Given the description of an element on the screen output the (x, y) to click on. 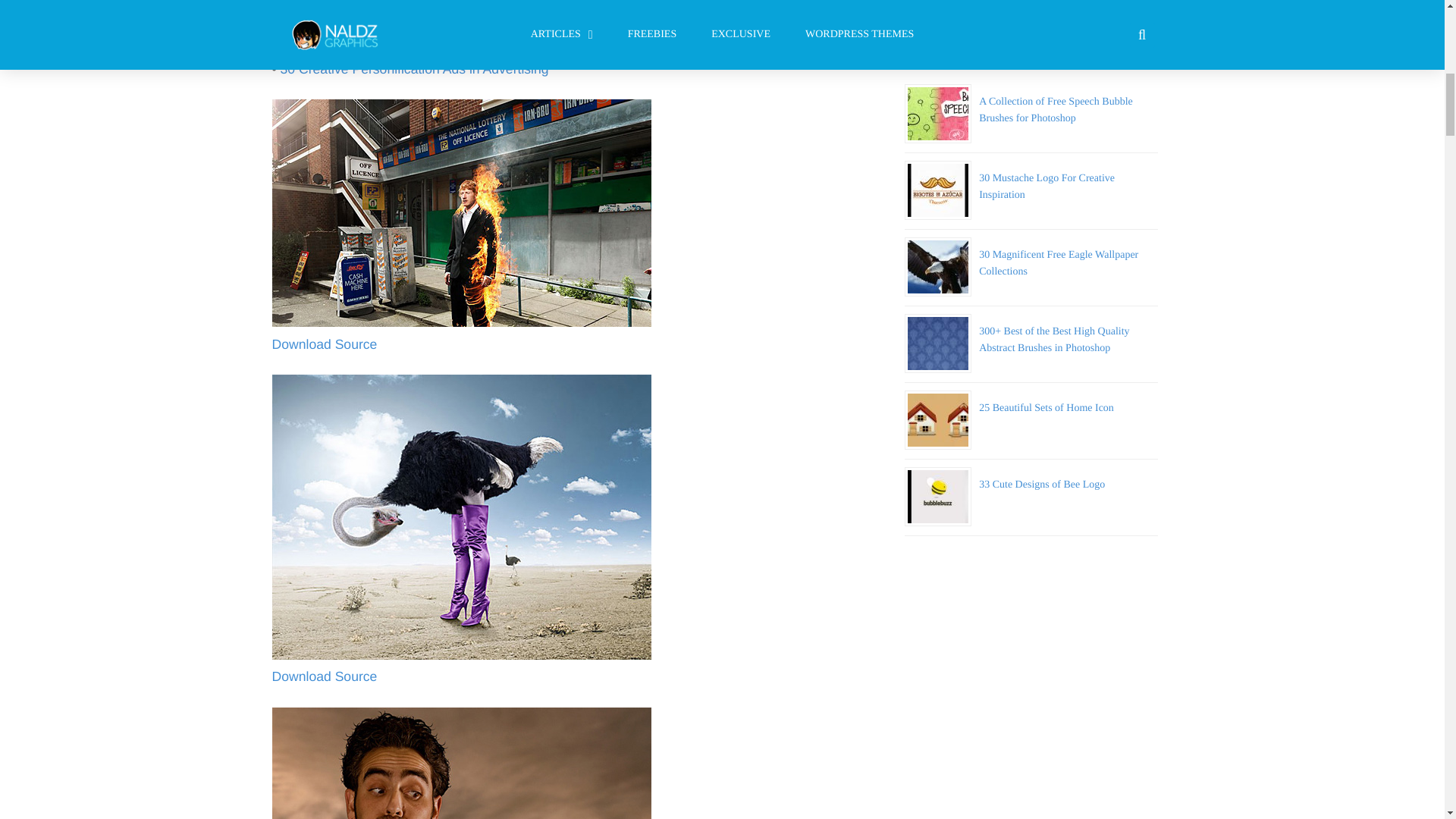
Permalink to 25 Beautiful Sets of Home Icon (1045, 408)
Permalink to 33 Cute Designs of Bee Logo (1041, 484)
Permalink to 30 Magnificent Free Eagle Wallpaper Collections (1058, 263)
Permalink to 30 Mustache Logo For Creative Inspiration (1046, 186)
